Given the description of an element on the screen output the (x, y) to click on. 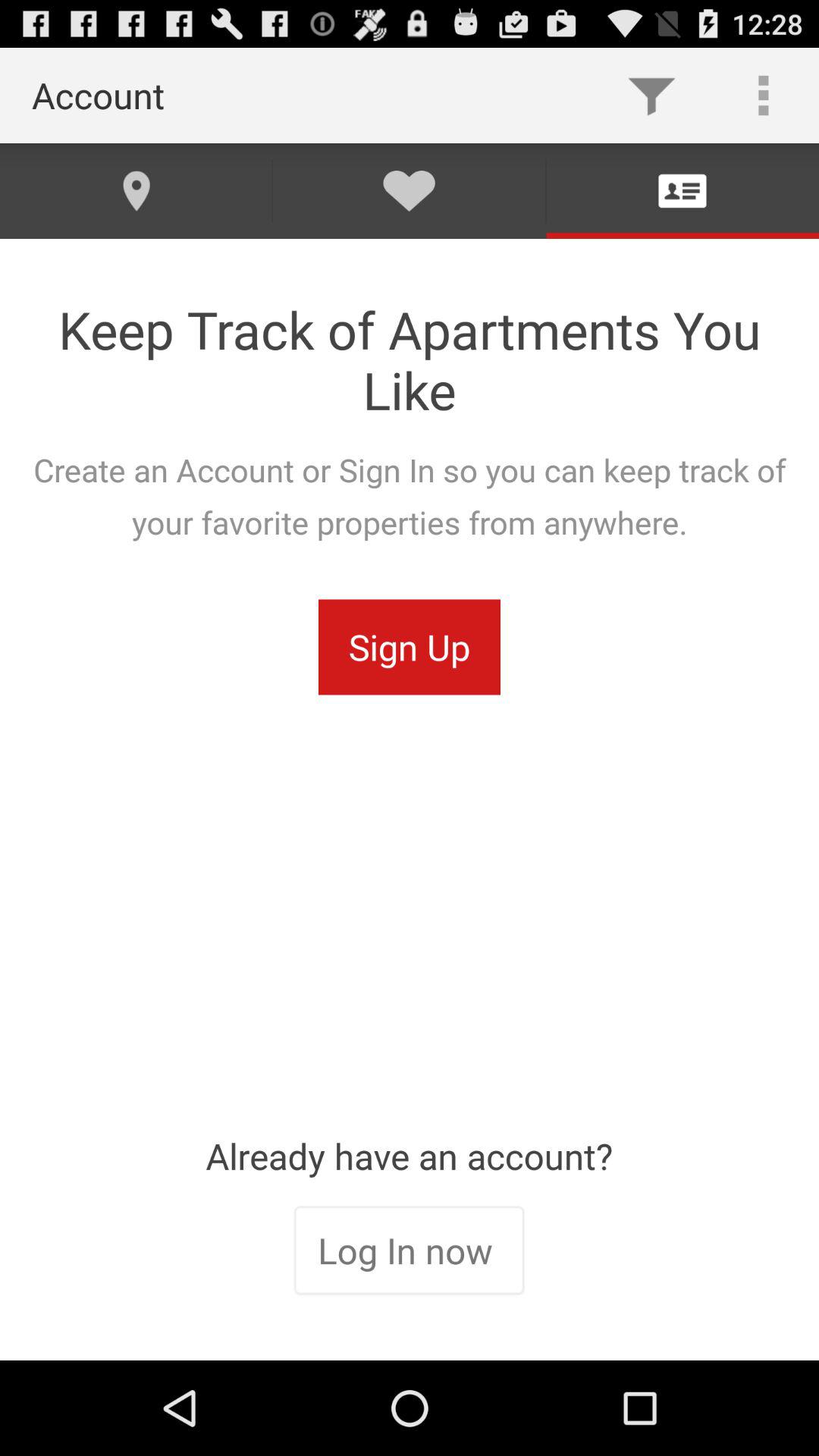
swipe until the sign up icon (409, 647)
